Given the description of an element on the screen output the (x, y) to click on. 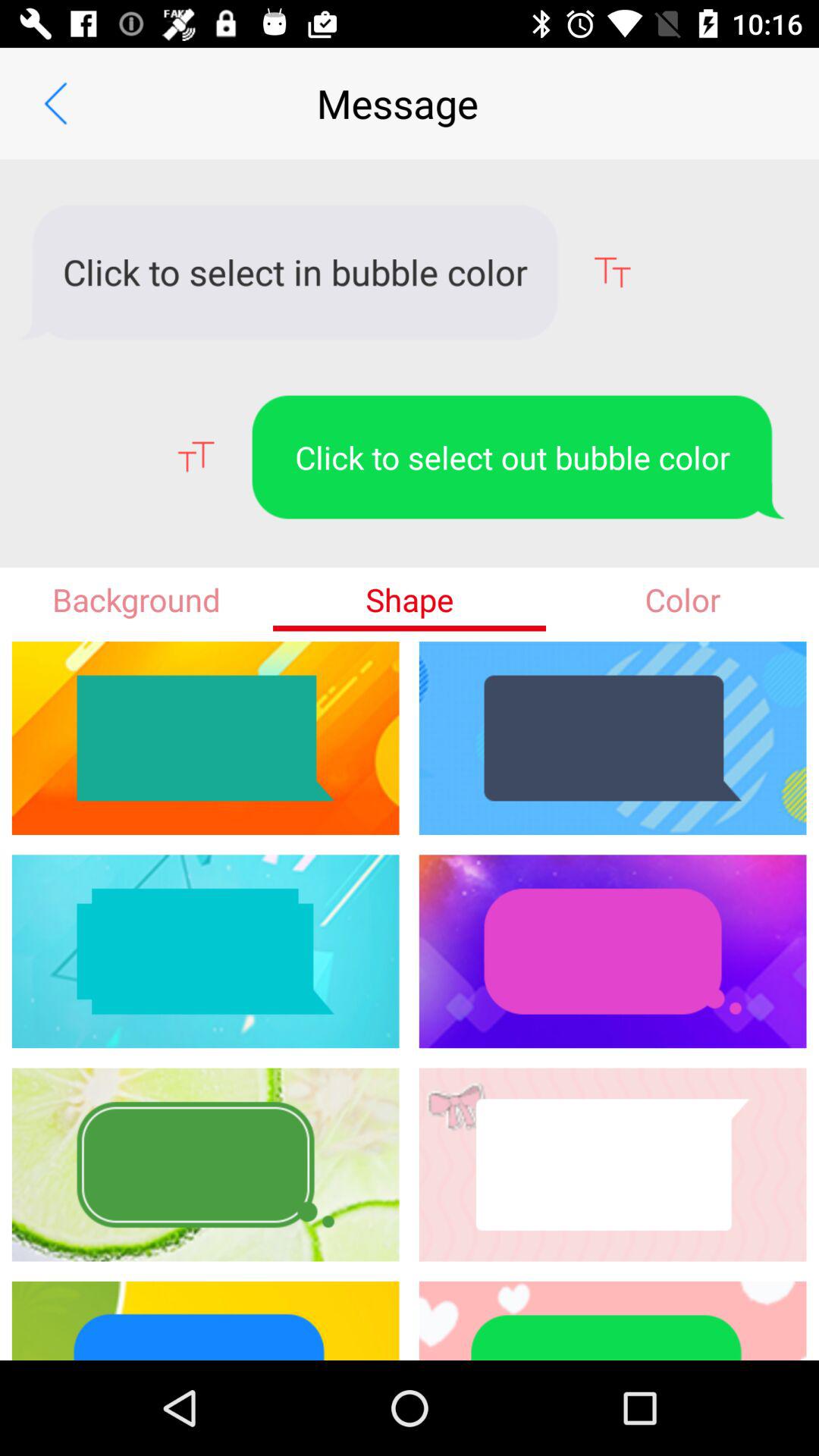
select the icon next to the shape (136, 599)
